Given the description of an element on the screen output the (x, y) to click on. 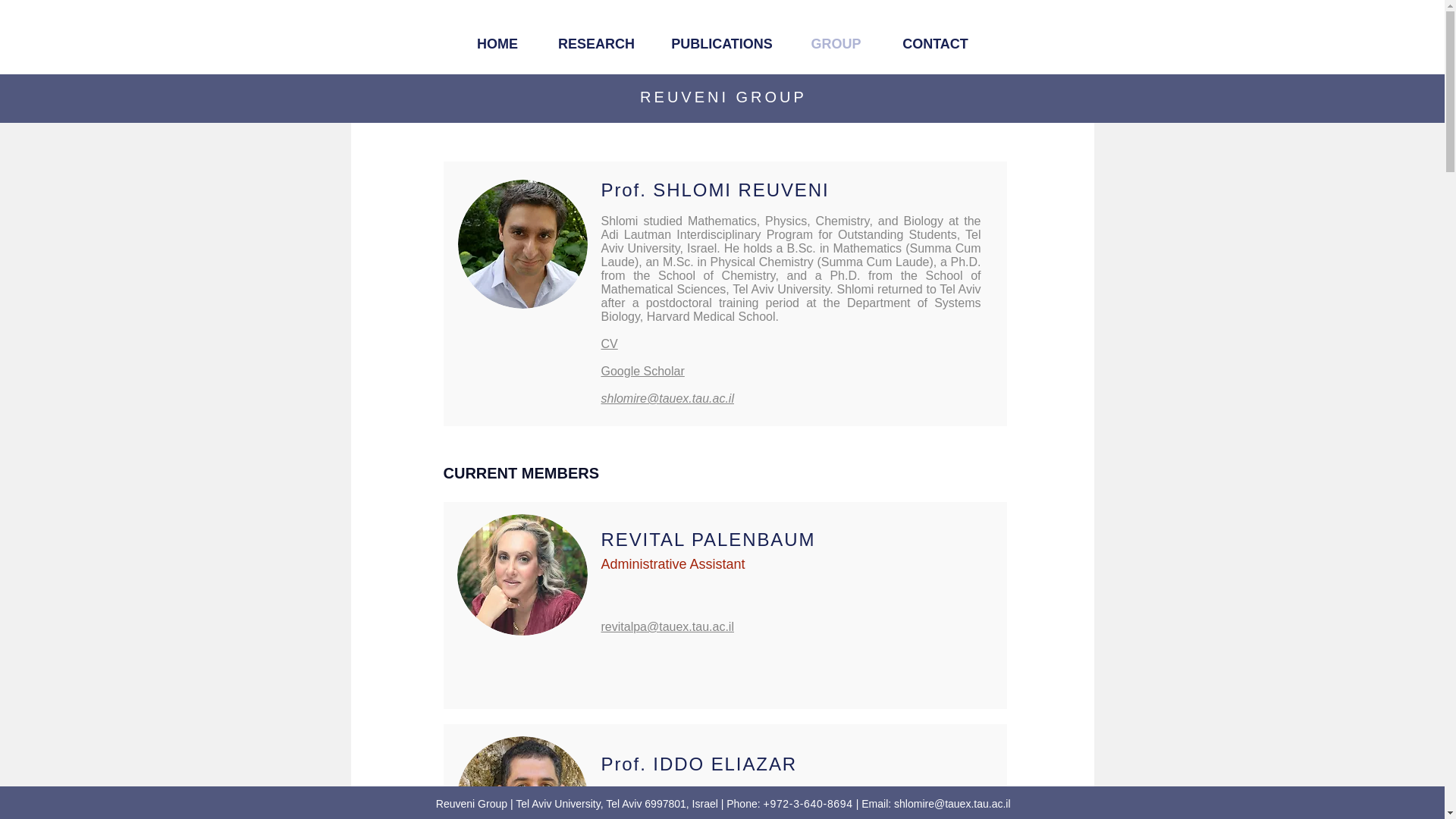
CURRENT MEMBERS (520, 473)
CV (608, 343)
HOME (497, 44)
CONTACT (935, 44)
Google Scholar (641, 370)
PUBLICATIONS (721, 44)
RESEARCH (596, 44)
GROUP (835, 44)
